Given the description of an element on the screen output the (x, y) to click on. 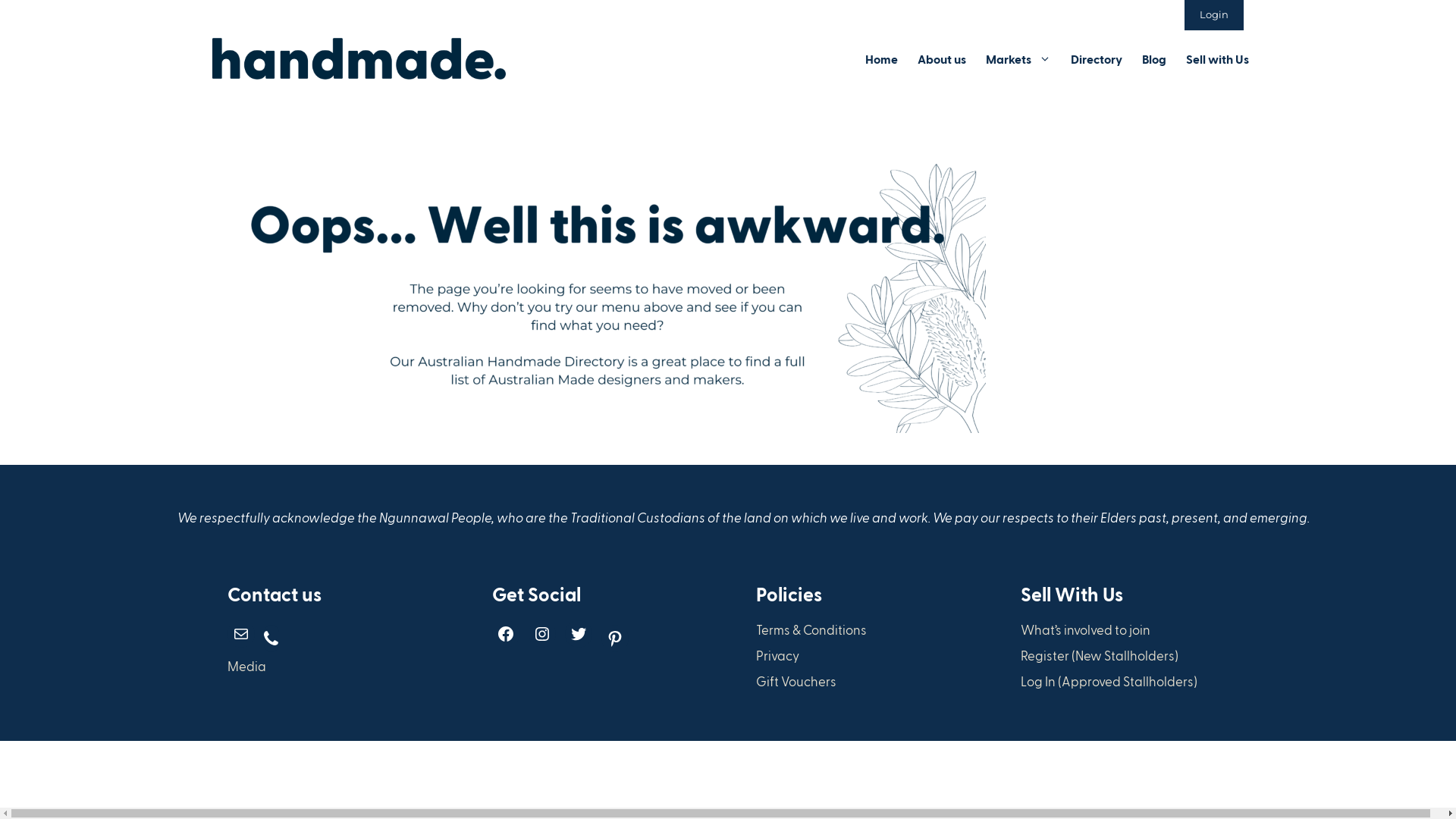
Media Element type: text (246, 665)
Markets Element type: text (1017, 58)
Handmade Canberra Element type: hover (358, 58)
Login Element type: text (1213, 15)
Blog Element type: text (1154, 58)
Sell with Us Element type: text (1217, 58)
Facebook Element type: text (504, 633)
About us Element type: text (941, 58)
Pinterest Element type: text (613, 638)
Directory Element type: text (1096, 58)
Gift Vouchers Element type: text (796, 680)
Home Element type: text (881, 58)
Register (New Stallholders) Element type: text (1099, 654)
phone Element type: text (271, 638)
Privacy Element type: text (777, 654)
Mail Element type: text (240, 633)
Log In (Approved Stallholders) Element type: text (1108, 680)
Twitter Element type: text (577, 633)
Instagram Element type: text (541, 633)
Terms & Conditions Element type: text (811, 629)
